Given the description of an element on the screen output the (x, y) to click on. 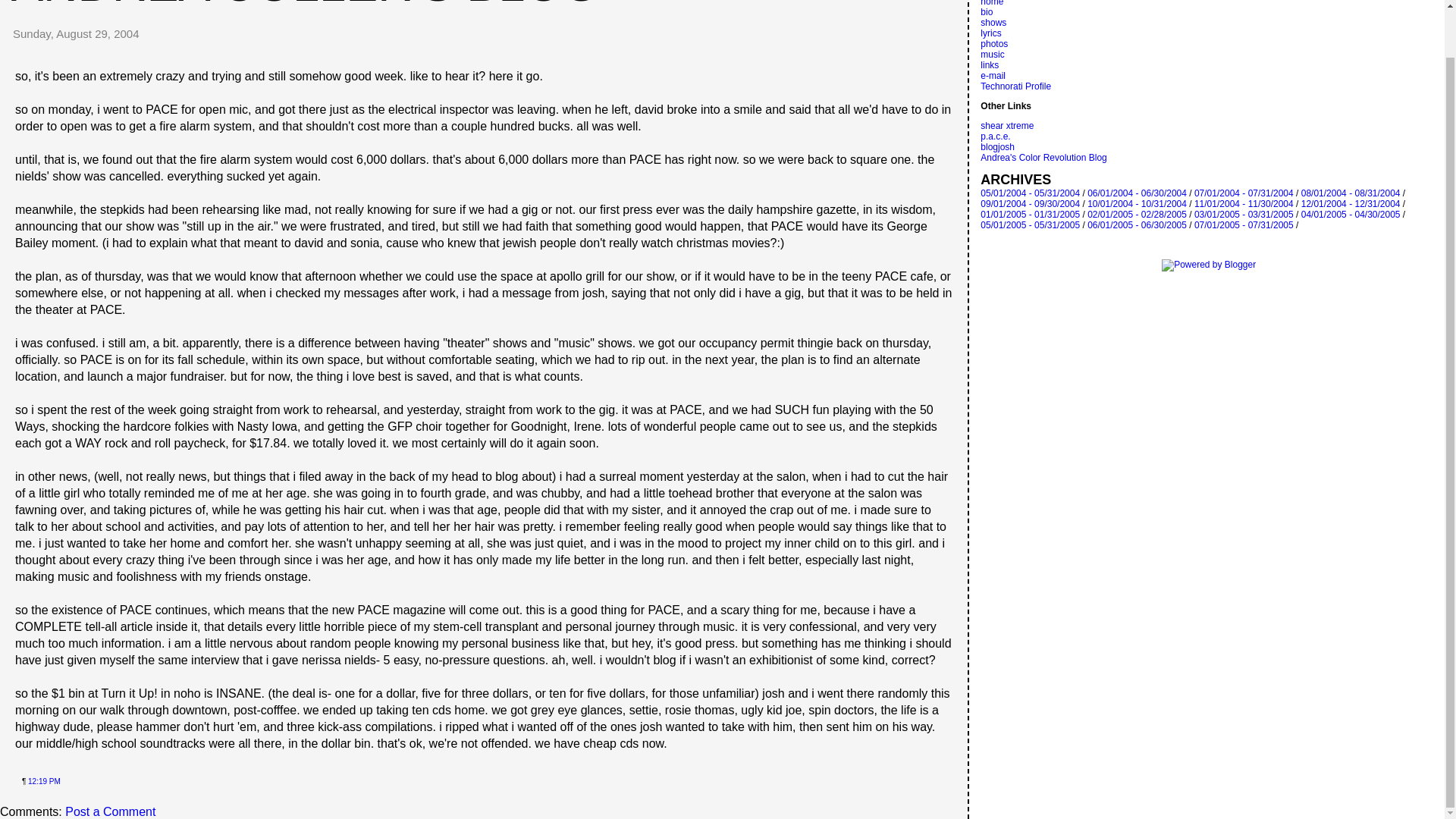
Technorati Profile (1015, 86)
shear xtreme (1006, 125)
shows (992, 22)
photos (993, 43)
e-mail (992, 75)
lyrics (990, 32)
p.a.c.e. (994, 136)
music (991, 54)
home (991, 3)
Andrea's Color Revolution Blog (1042, 157)
12:19 PM (44, 781)
blogjosh (996, 146)
permanent link (44, 781)
bio (985, 11)
